Given the description of an element on the screen output the (x, y) to click on. 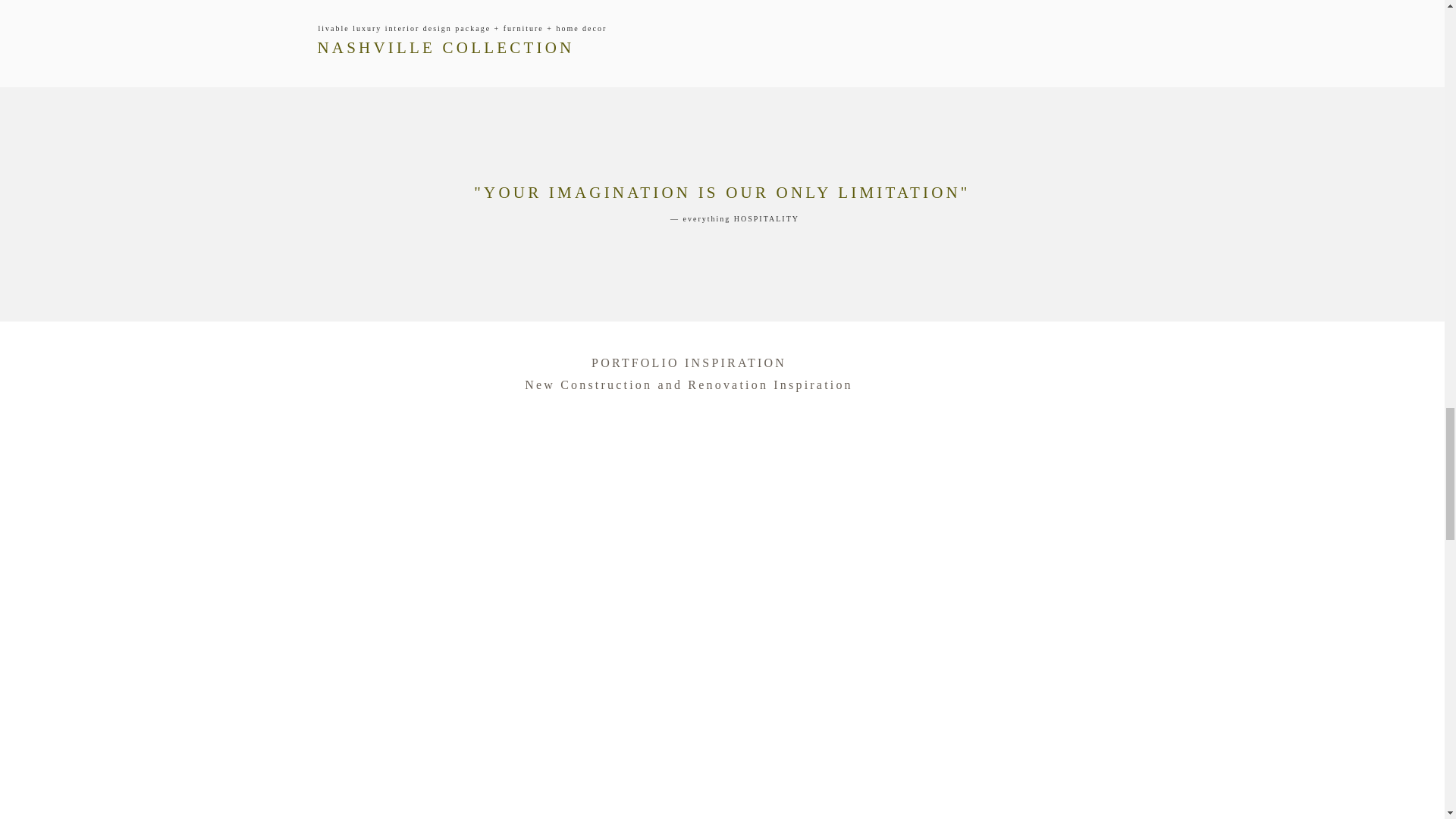
NASHVILLE COLLECTION  (499, 52)
